Given the description of an element on the screen output the (x, y) to click on. 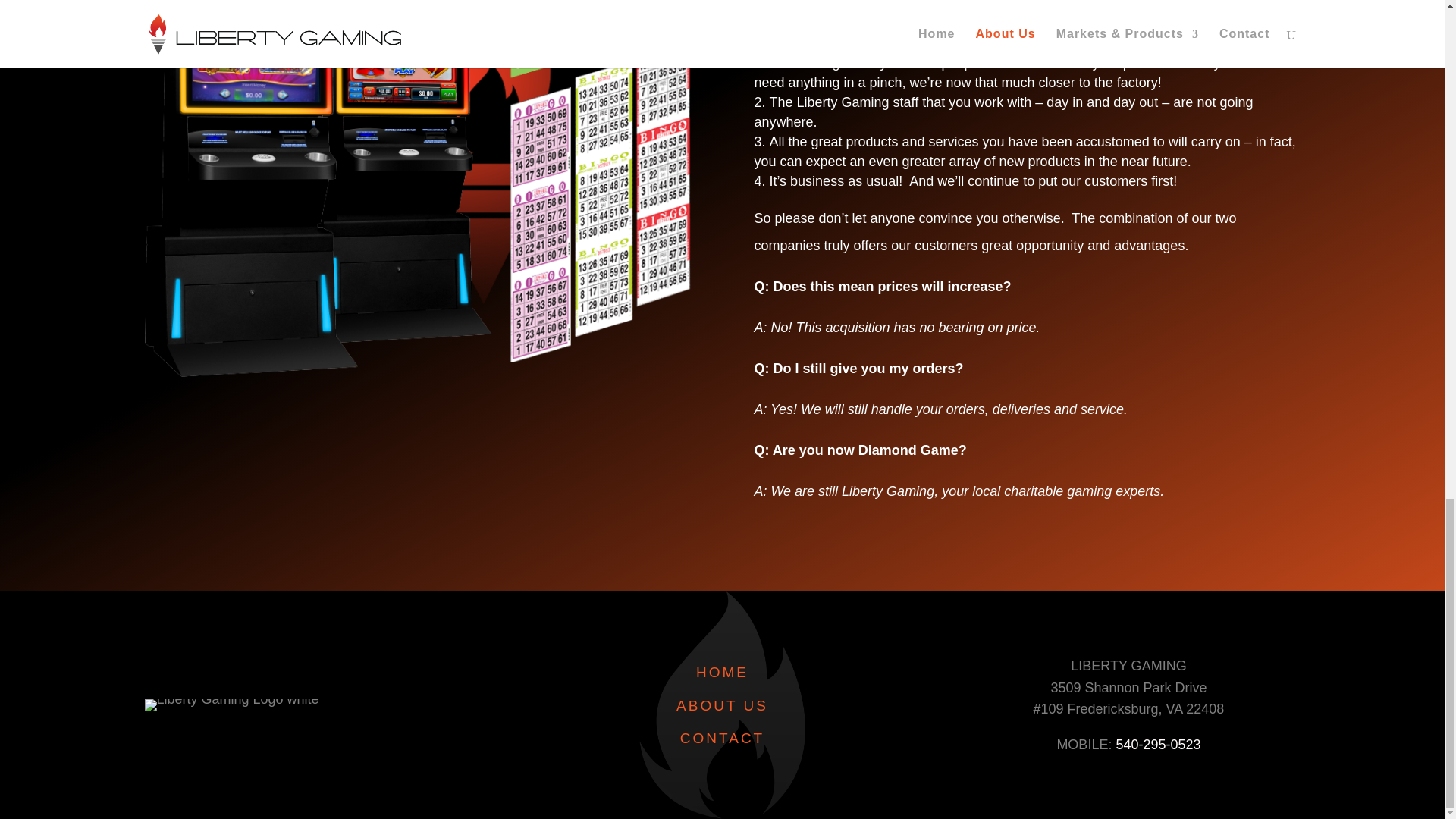
ABOUT US (722, 705)
HOME (721, 672)
Liberty Gaming Logo white (231, 705)
CONTACT (721, 738)
